Given the description of an element on the screen output the (x, y) to click on. 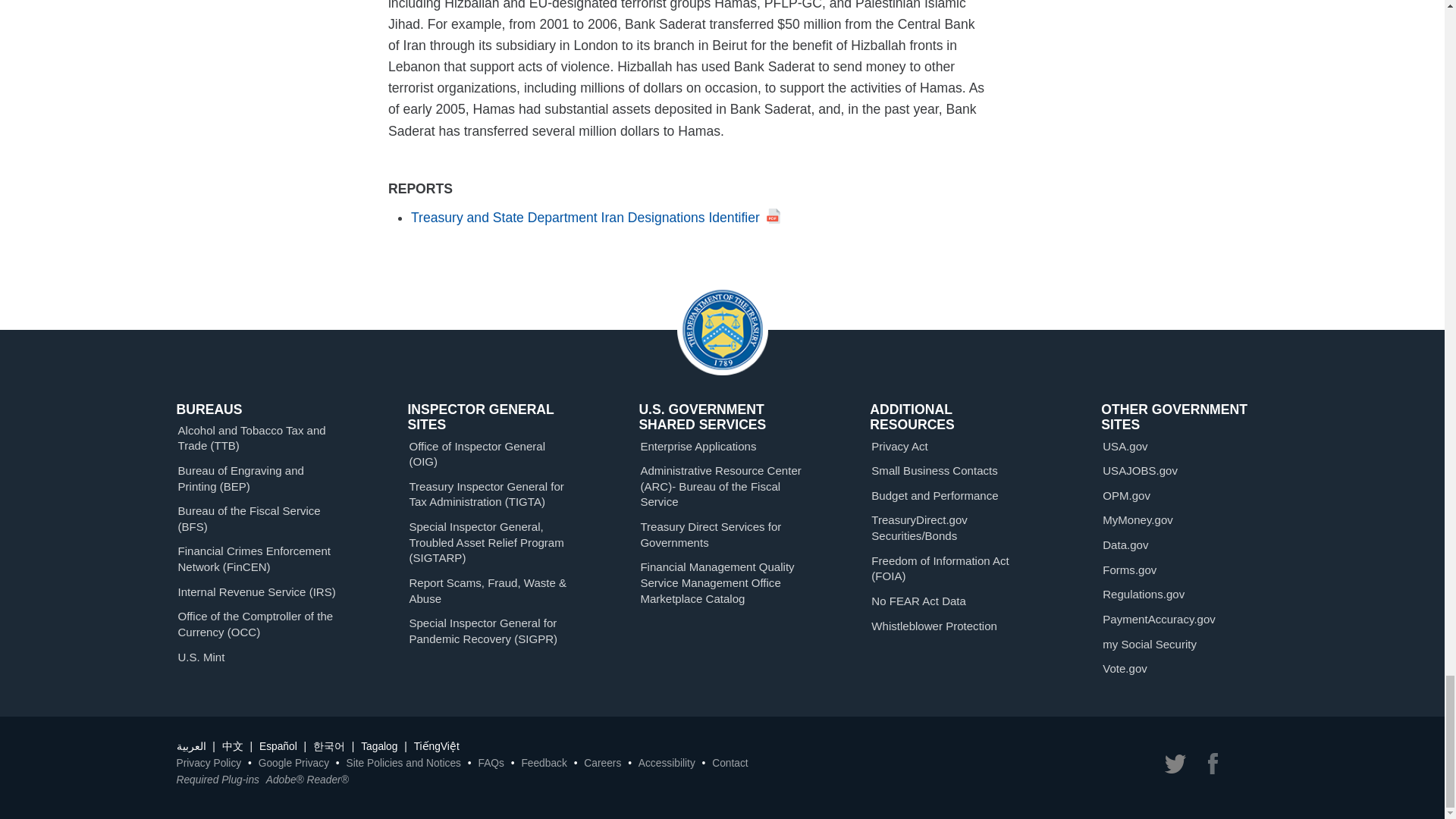
Google Privacy (294, 763)
Feedback (543, 763)
Vietnamese (436, 746)
Arabic (190, 746)
Korean (329, 746)
Tagalog (379, 746)
FAQs (490, 763)
Careers (602, 763)
Spanish (278, 746)
This link opens in a new window. (595, 217)
Site Policies and Notices (403, 763)
Chinese (232, 746)
Privacy Policy (208, 763)
Accessibility (667, 763)
